Given the description of an element on the screen output the (x, y) to click on. 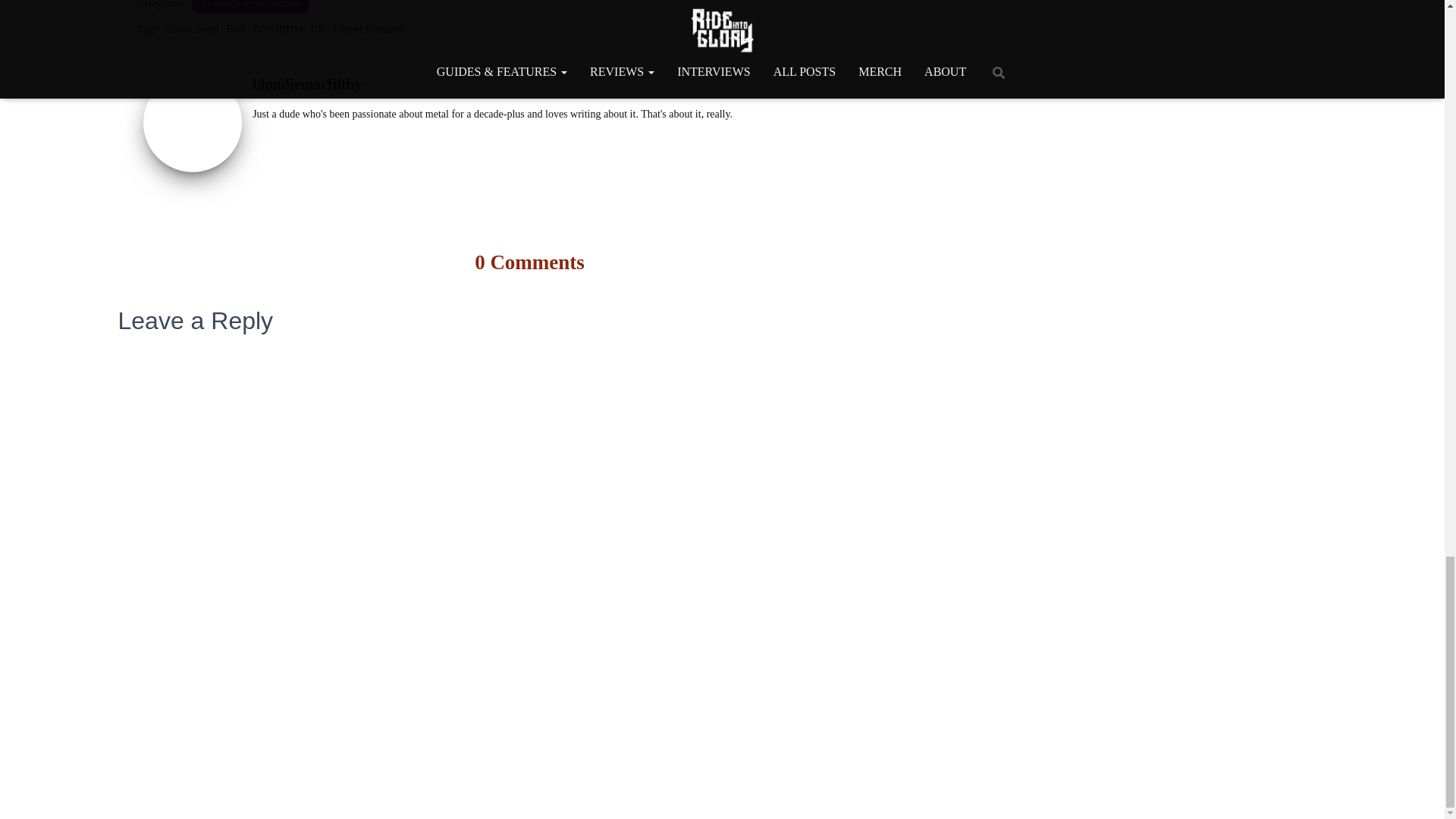
Folk (236, 29)
CLASSICS APPRECIATION (249, 4)
United Kingdom (369, 29)
NWOBHM (277, 29)
UK (318, 29)
Doom metal (192, 29)
